Given the description of an element on the screen output the (x, y) to click on. 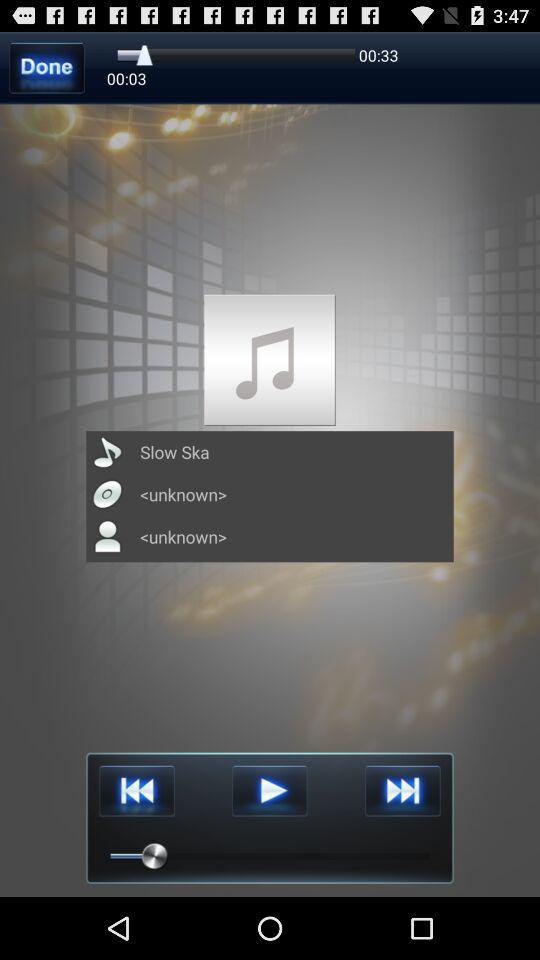
toggle done option (46, 67)
